Given the description of an element on the screen output the (x, y) to click on. 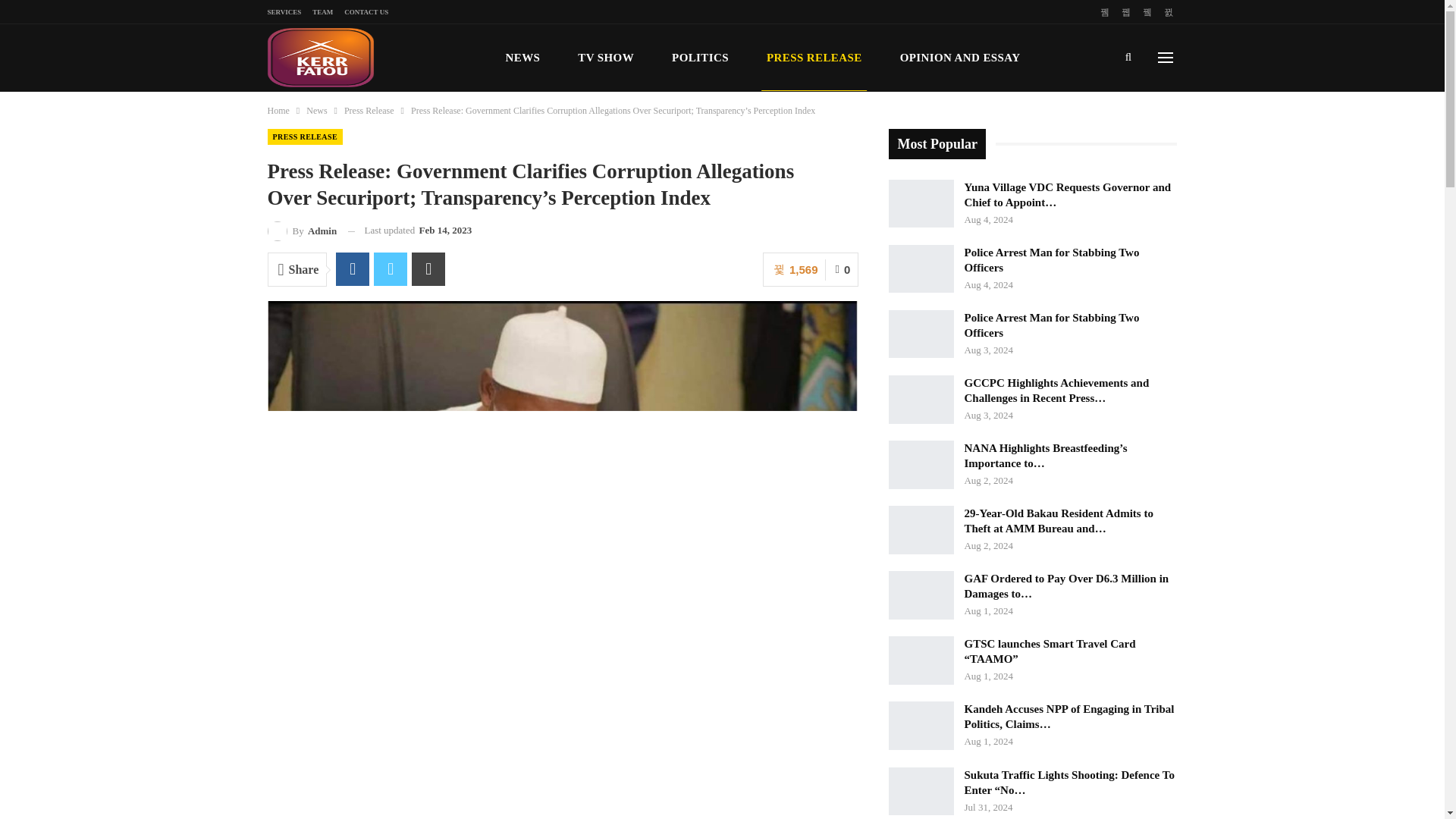
POLITICS (699, 57)
Press Release (368, 110)
PRESS RELEASE (304, 136)
CONTACT US (365, 11)
News (315, 110)
Browse Author Articles (301, 230)
OPINION AND ESSAY (960, 57)
Home (277, 110)
PRESS RELEASE (814, 57)
SERVICES (283, 11)
By Admin (301, 230)
0 (842, 269)
TV SHOW (605, 57)
TEAM (323, 11)
